Given the description of an element on the screen output the (x, y) to click on. 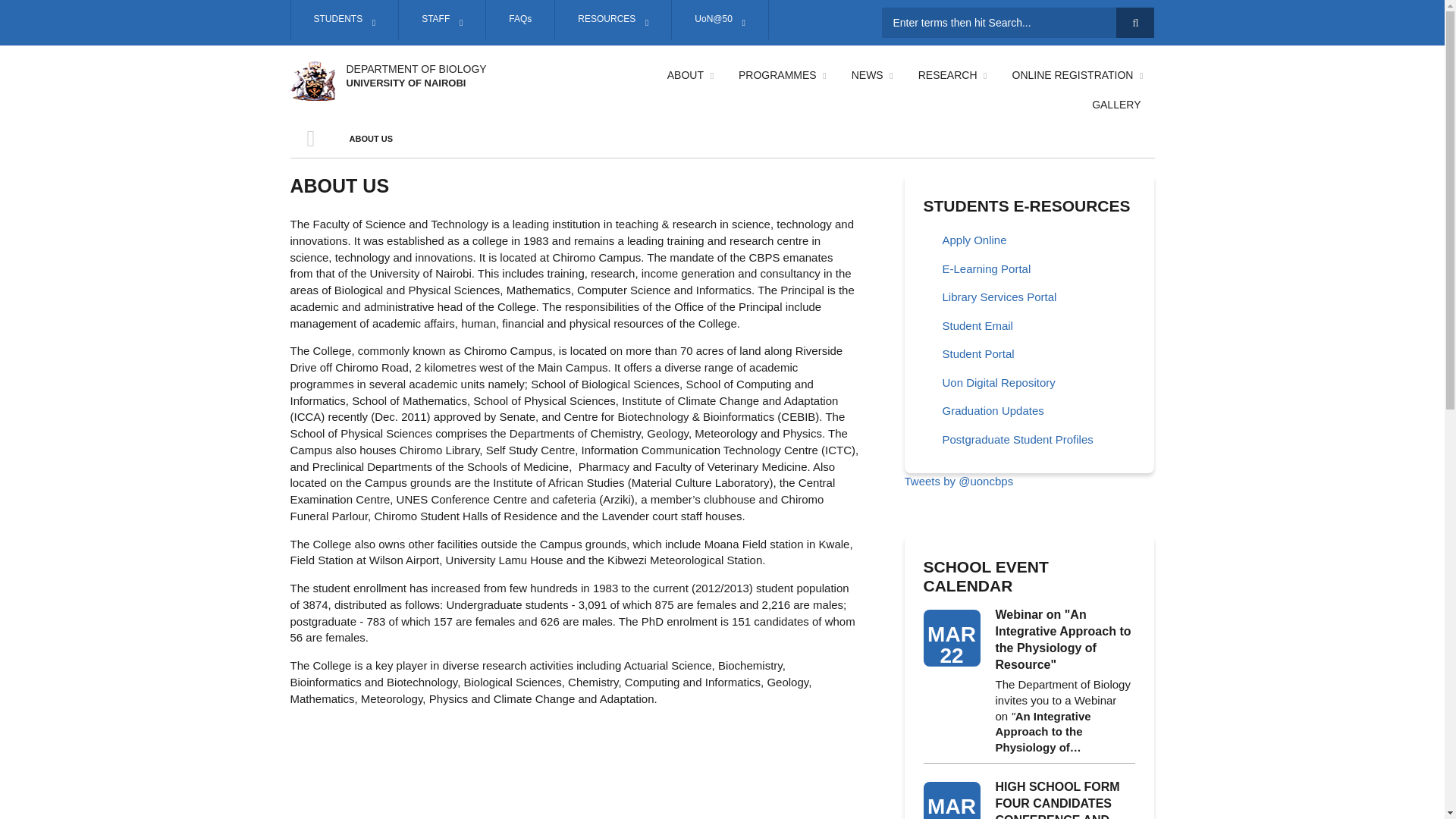
STUDENTS (343, 20)
Apply Online (1029, 240)
Search (1135, 22)
ABOUT (689, 75)
News (871, 75)
Admission (780, 75)
Search (1135, 22)
RESOURCES (612, 20)
Staff (440, 20)
STAFF (440, 20)
Home (311, 78)
Contact (519, 20)
Enter the terms you wish to search for. (1017, 22)
Study (343, 20)
